Given the description of an element on the screen output the (x, y) to click on. 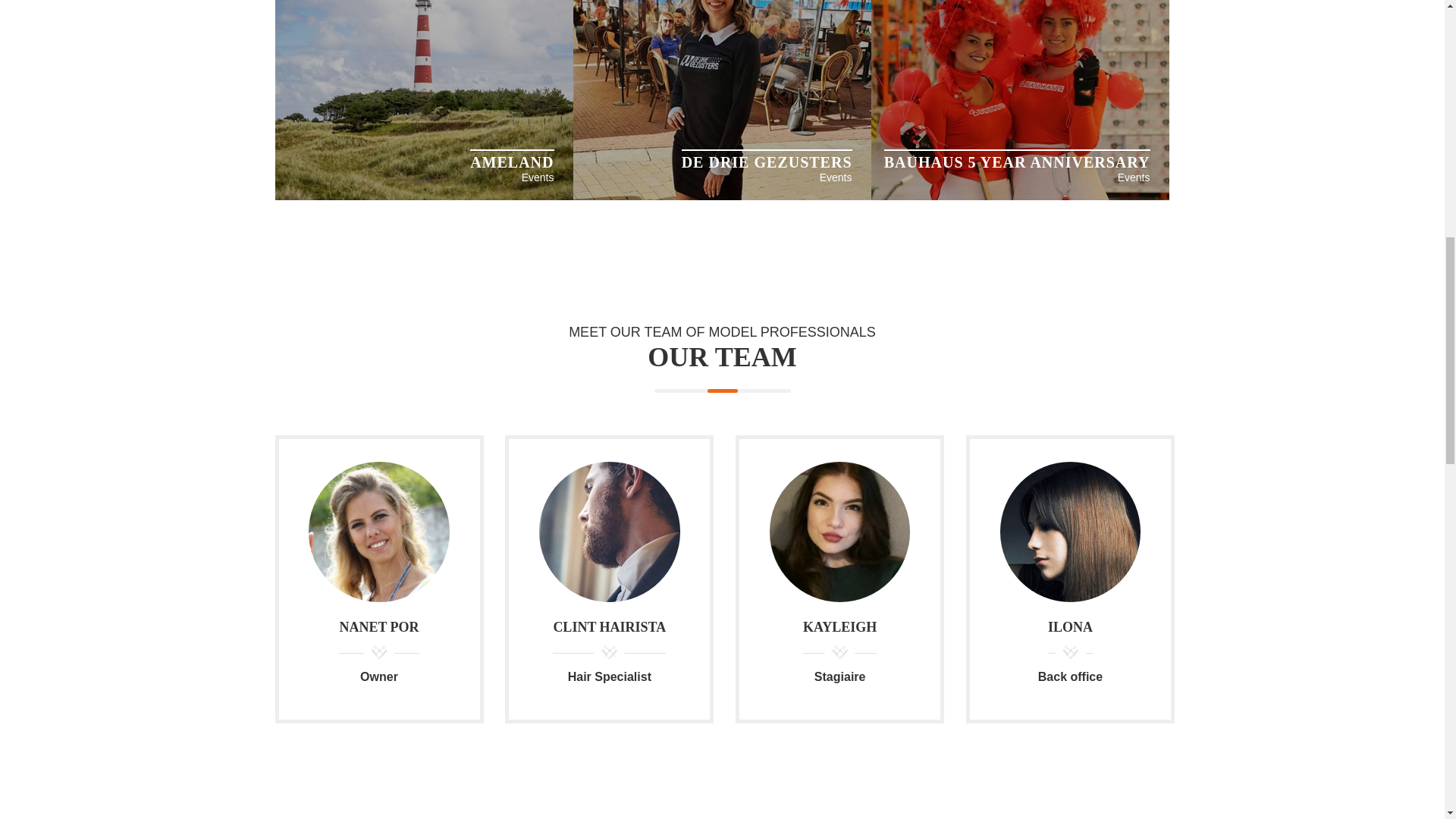
Bauhaus 5 year anniversary (1019, 195)
Ameland (423, 195)
De Drie Gezusters (721, 195)
